Given the description of an element on the screen output the (x, y) to click on. 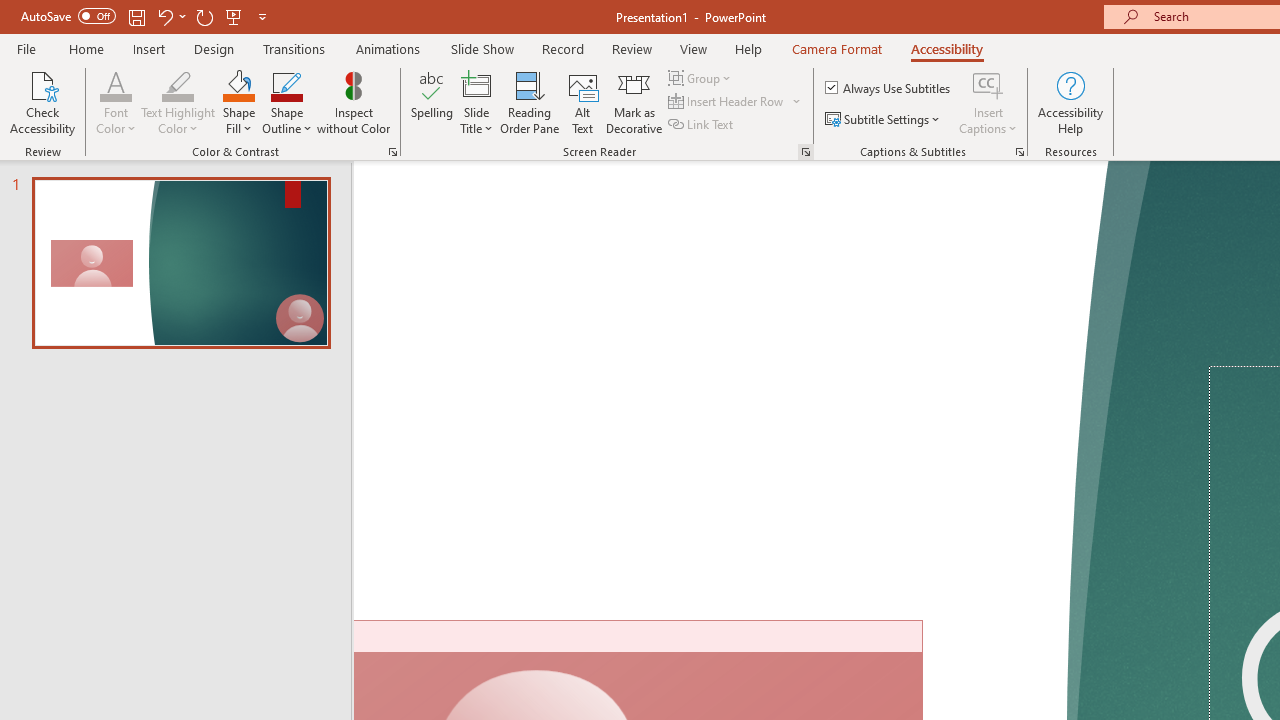
Captions & Subtitles (1019, 151)
Spelling... (432, 102)
Mark as Decorative (634, 102)
Slide Title (476, 84)
Camera Format (836, 48)
Shape Fill Orange, Accent 2 (238, 84)
Screen Reader (805, 151)
